Given the description of an element on the screen output the (x, y) to click on. 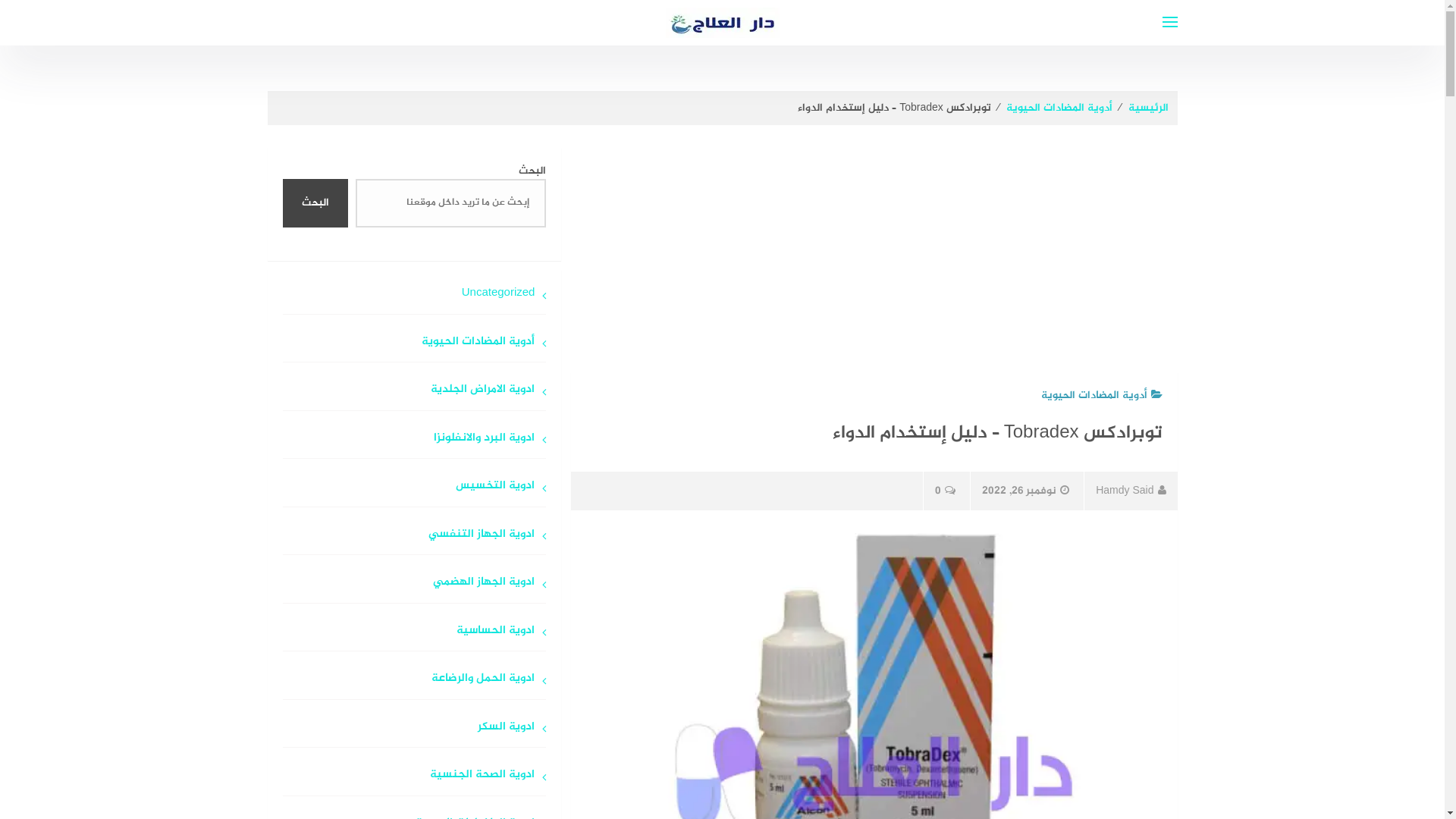
0 Element type: text (944, 490)
Uncategorized Element type: text (414, 299)
Advertisement Element type: hover (873, 259)
Hamdy Said Element type: text (1129, 490)
